Given the description of an element on the screen output the (x, y) to click on. 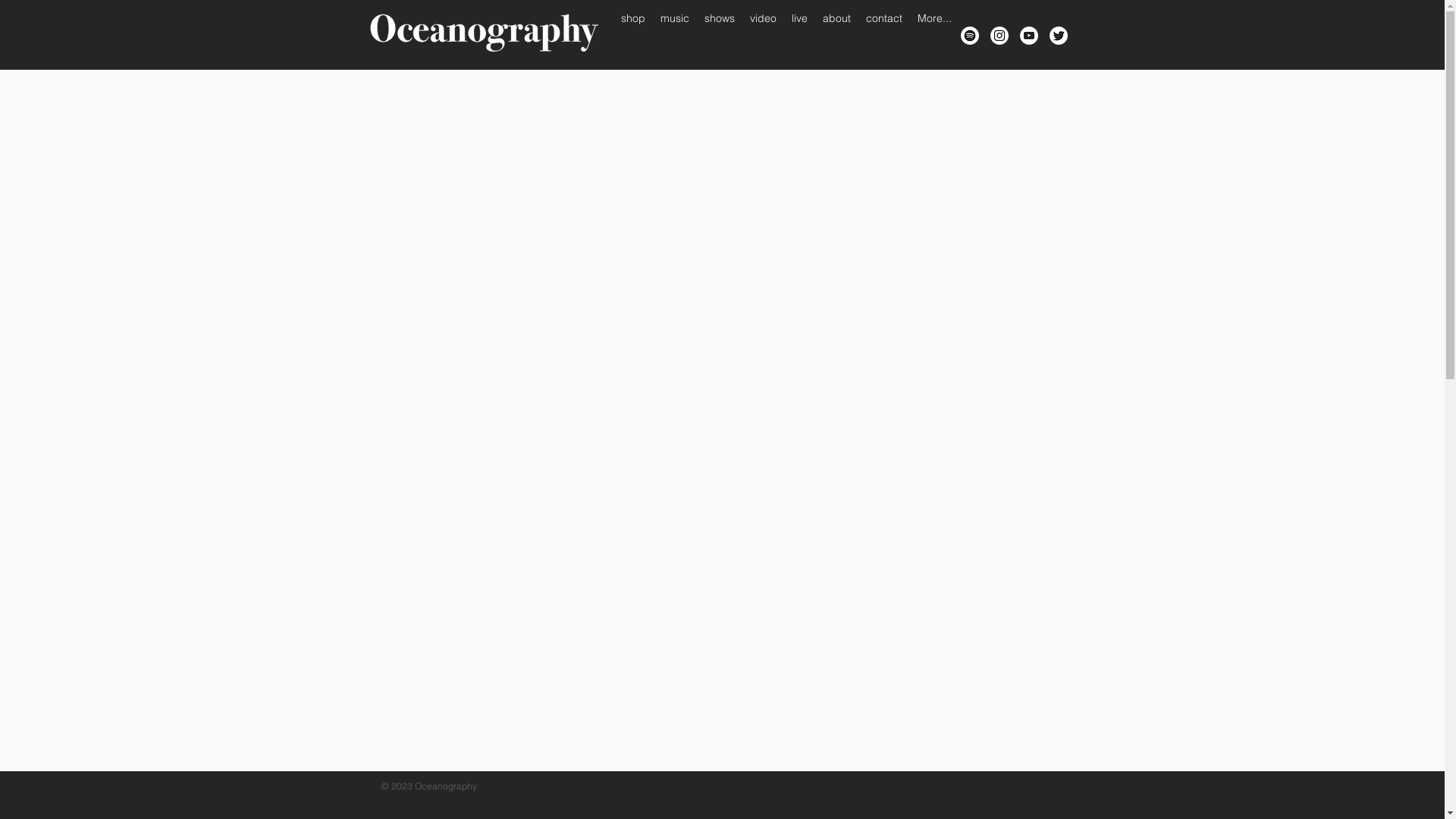
live Element type: text (799, 33)
music Element type: text (674, 33)
video Element type: text (762, 33)
contact Element type: text (884, 33)
shop Element type: text (632, 33)
shows Element type: text (718, 33)
about Element type: text (835, 33)
